Given the description of an element on the screen output the (x, y) to click on. 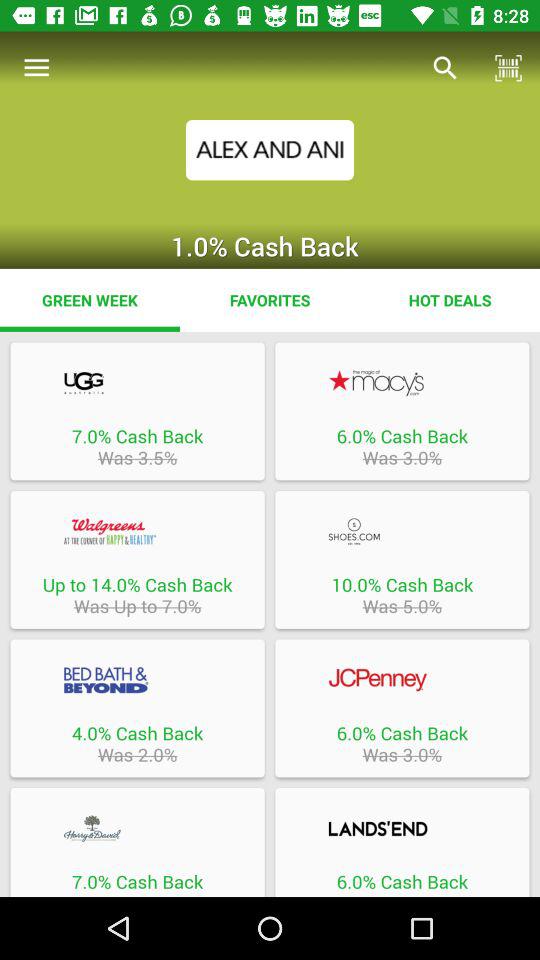
choose the desired shop (137, 531)
